Given the description of an element on the screen output the (x, y) to click on. 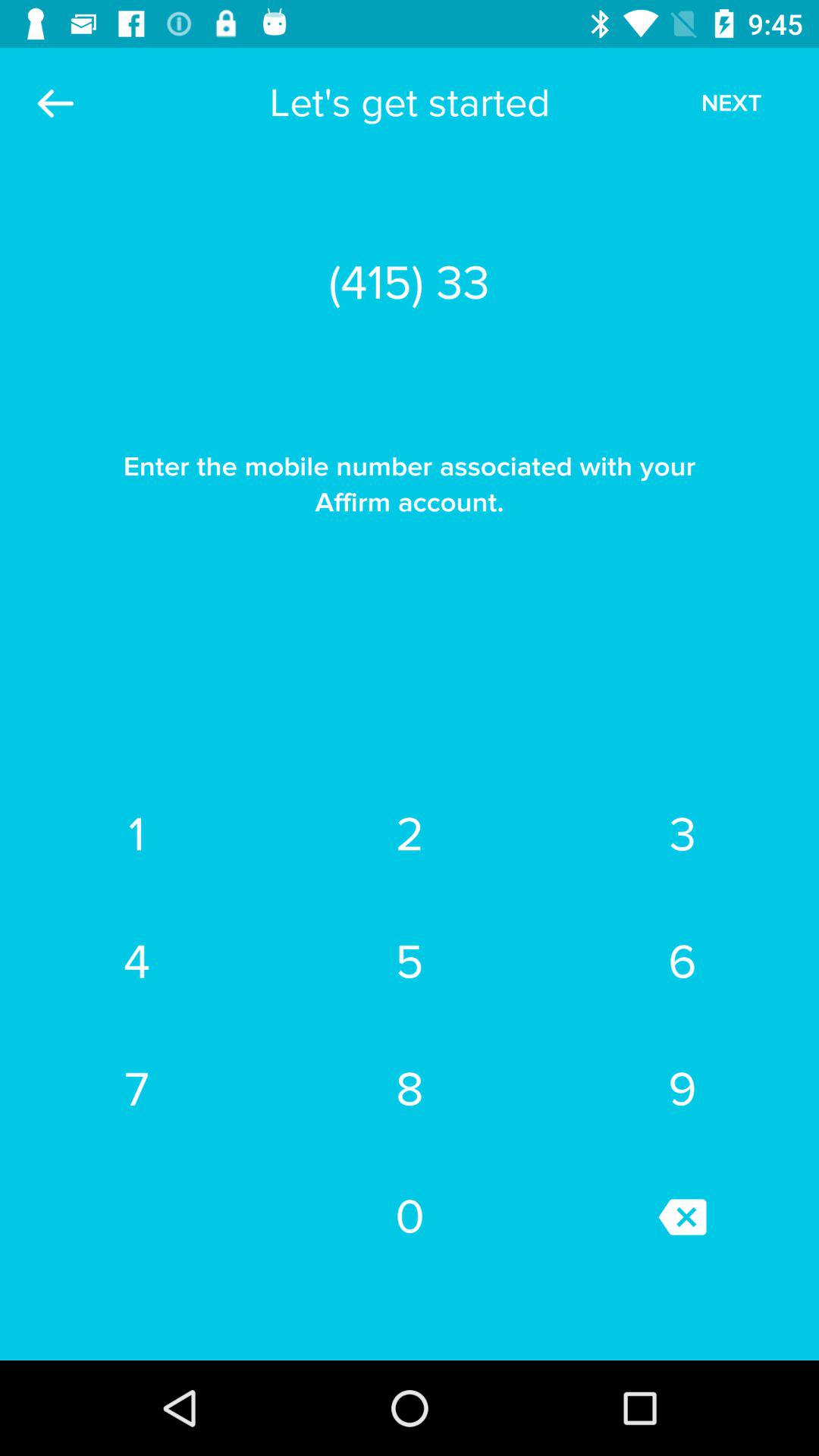
open the icon to the left of the 2 icon (136, 962)
